Given the description of an element on the screen output the (x, y) to click on. 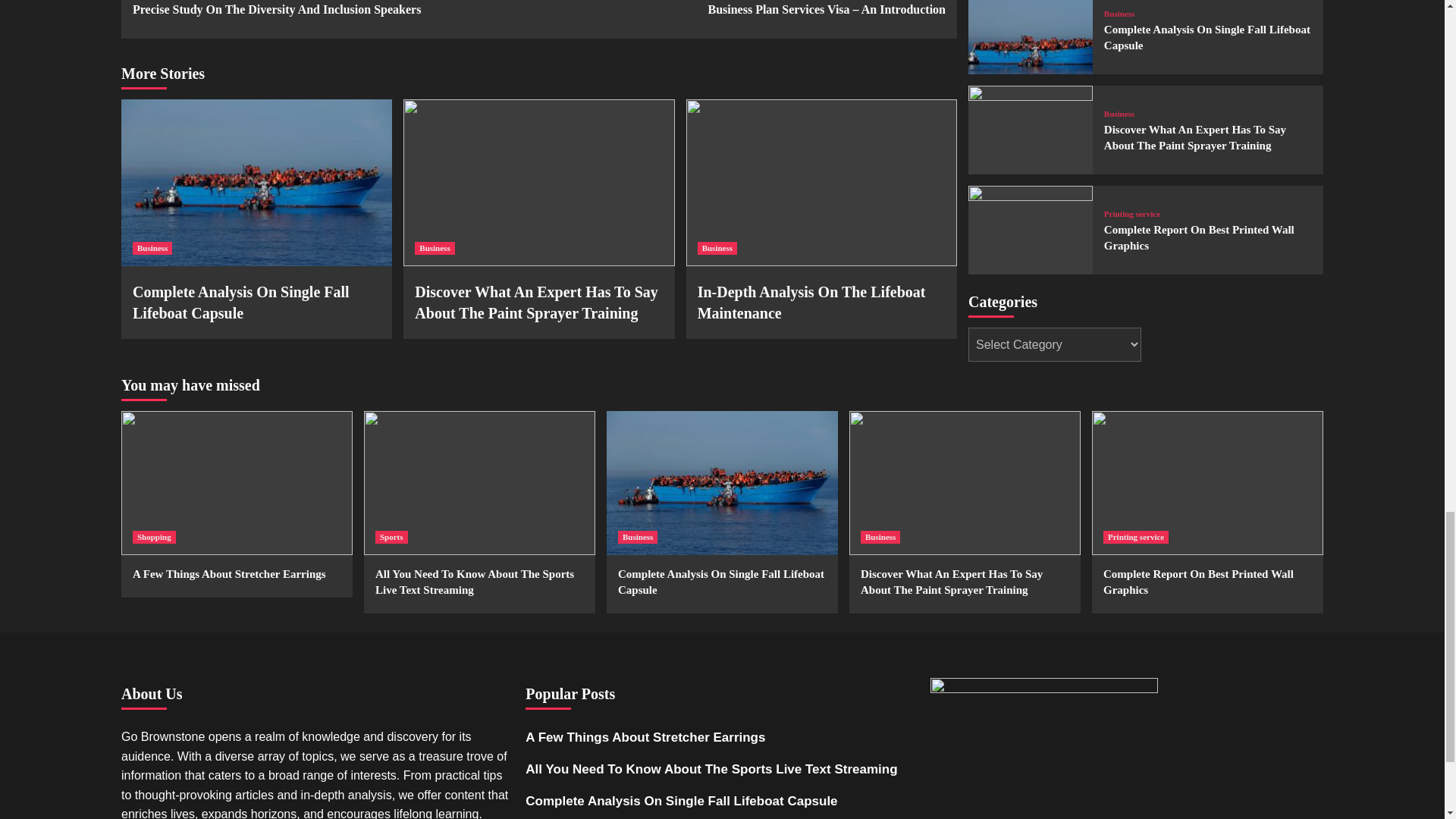
Business (716, 247)
Business (151, 247)
In-Depth Analysis On The Lifeboat Maintenance (811, 302)
Business (434, 247)
Complete Analysis On Single Fall Lifeboat Capsule (240, 302)
